Given the description of an element on the screen output the (x, y) to click on. 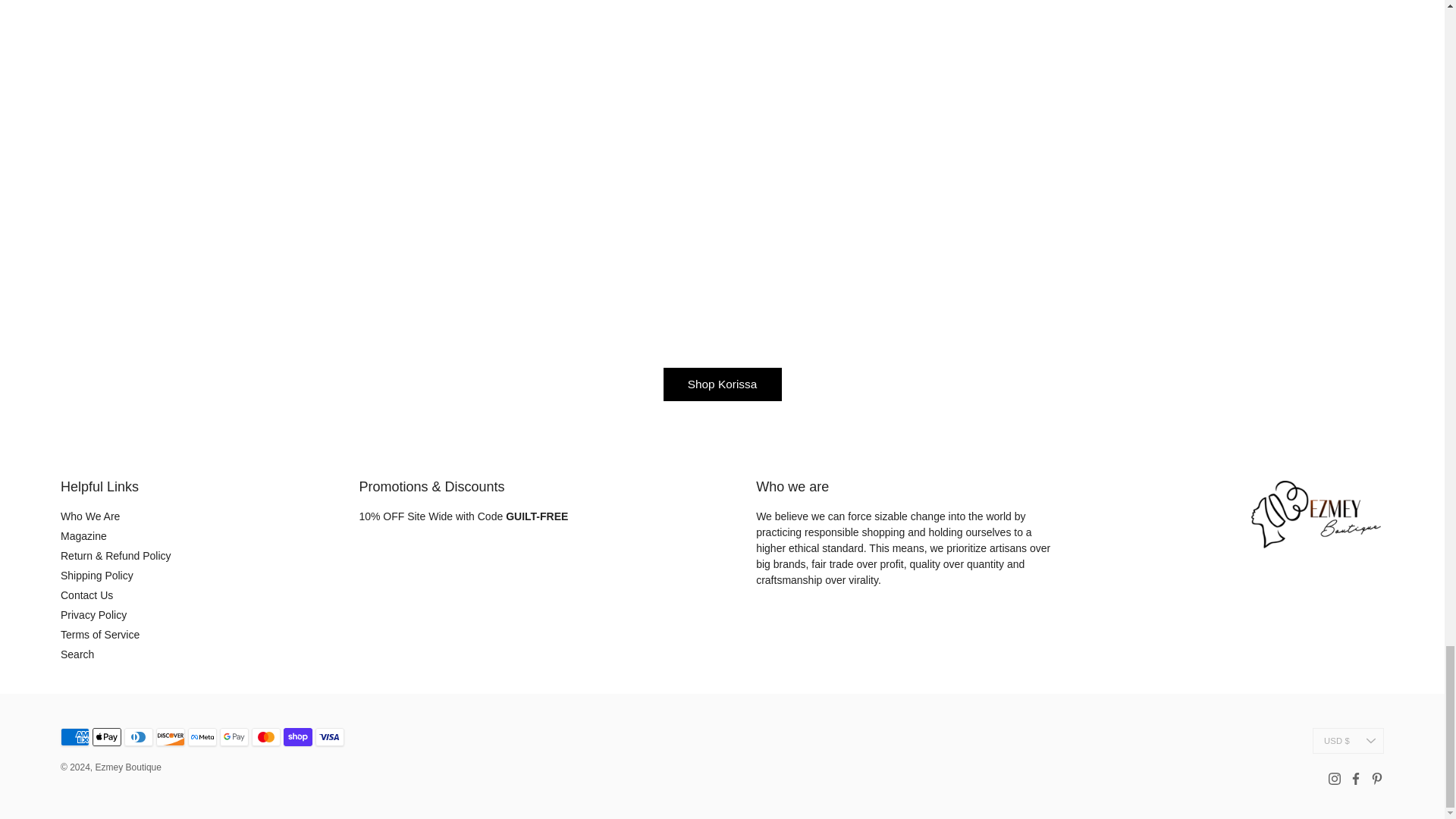
Diners Club (137, 737)
Apple Pay (106, 737)
Discover (169, 737)
American Express (74, 737)
